Given the description of an element on the screen output the (x, y) to click on. 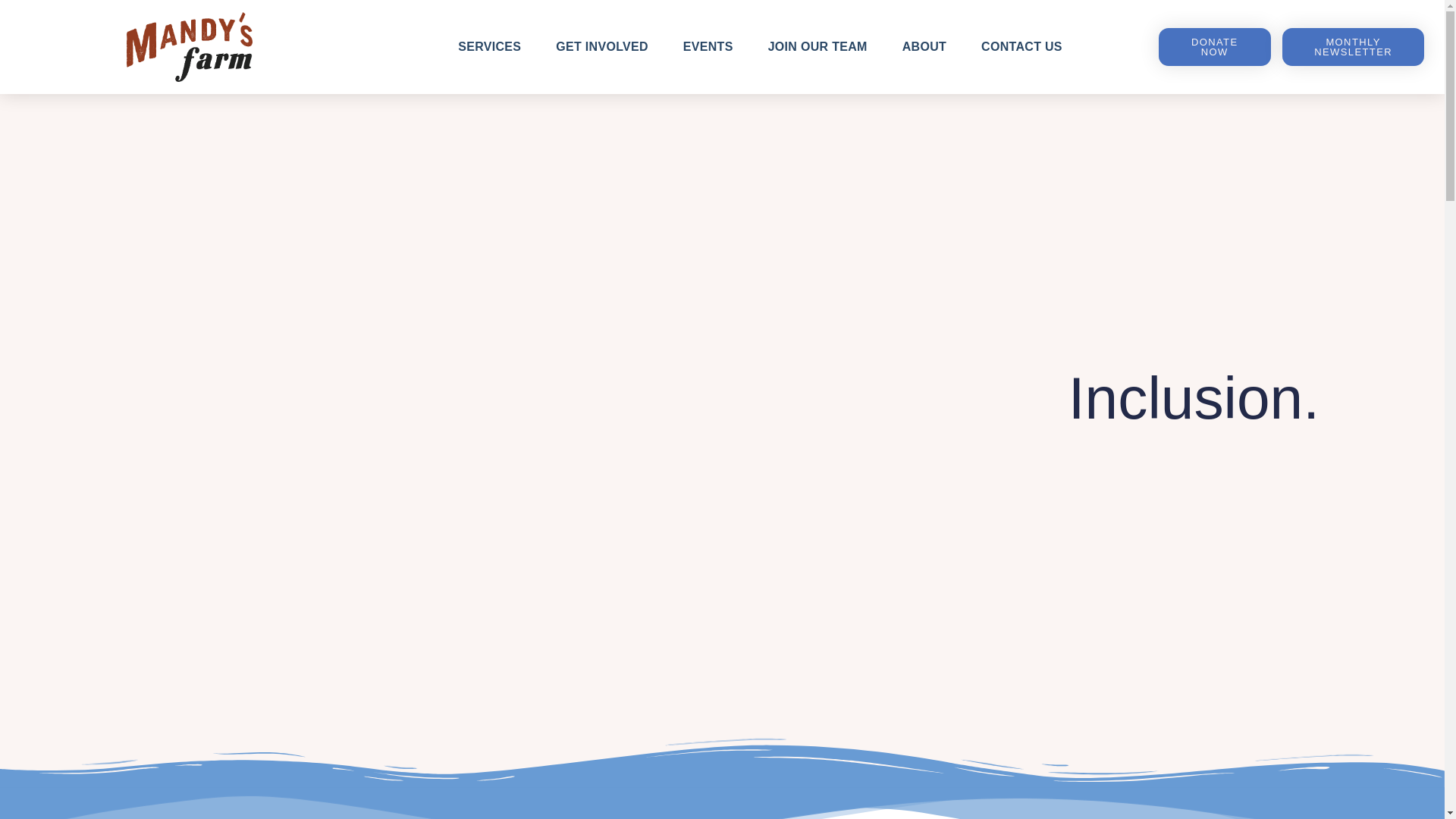
GET INVOLVED (601, 46)
CONTACT US (1021, 46)
SERVICES (488, 46)
ABOUT (923, 46)
EVENTS (708, 46)
JOIN OUR TEAM (817, 46)
